Given the description of an element on the screen output the (x, y) to click on. 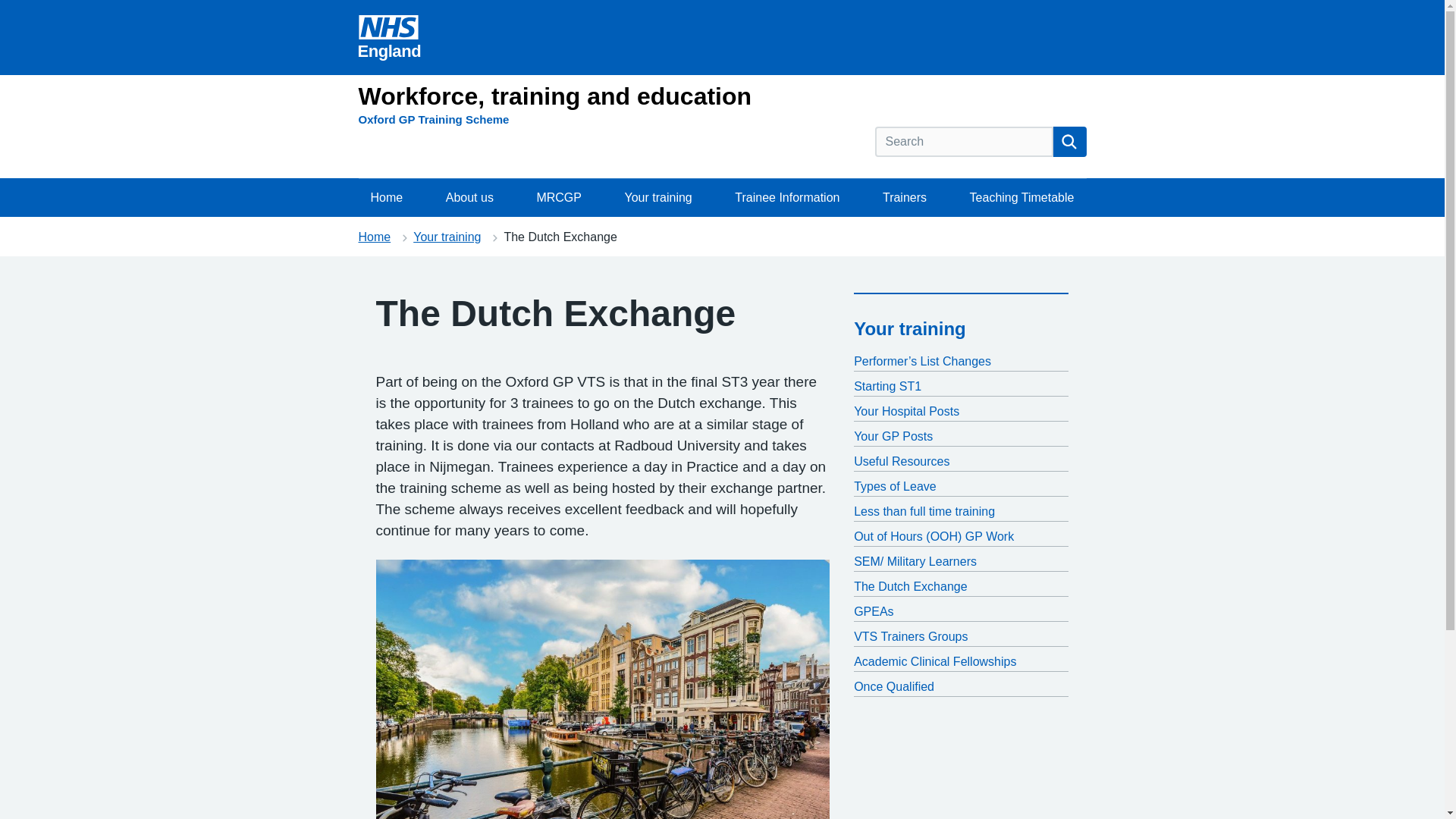
Oxford GP Training Scheme (433, 119)
About us (469, 198)
Your training (909, 328)
MRCGP (559, 198)
Your Hospital Posts (960, 411)
Once Qualified (960, 687)
Search (1069, 141)
The Dutch Exchange (960, 587)
Less than full time training (960, 511)
Home (374, 236)
